Given the description of an element on the screen output the (x, y) to click on. 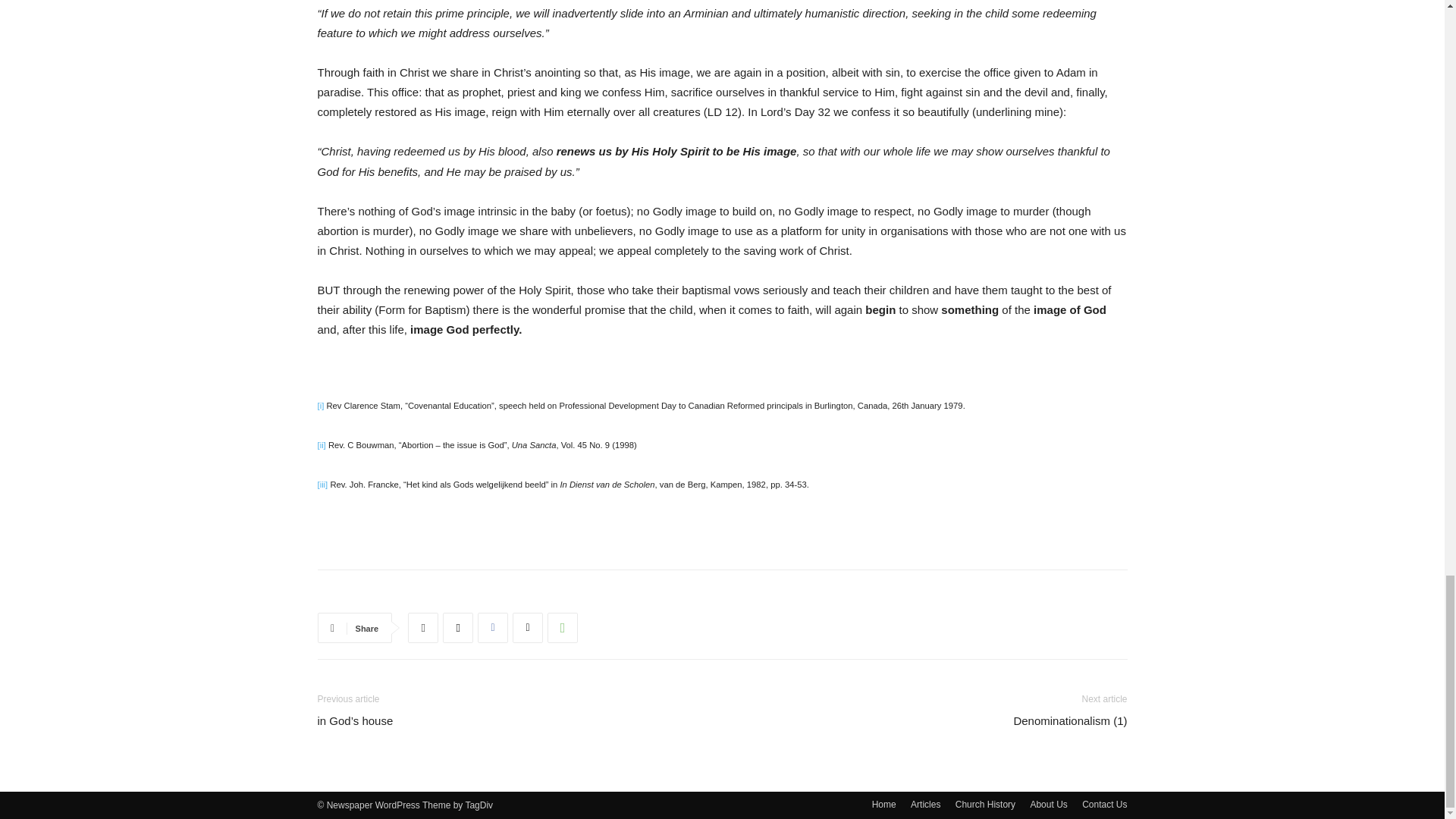
Twitter (527, 627)
Facebook (492, 627)
Print (422, 627)
bottomFacebookLike (430, 593)
Email (457, 627)
WhatsApp (562, 627)
